Given the description of an element on the screen output the (x, y) to click on. 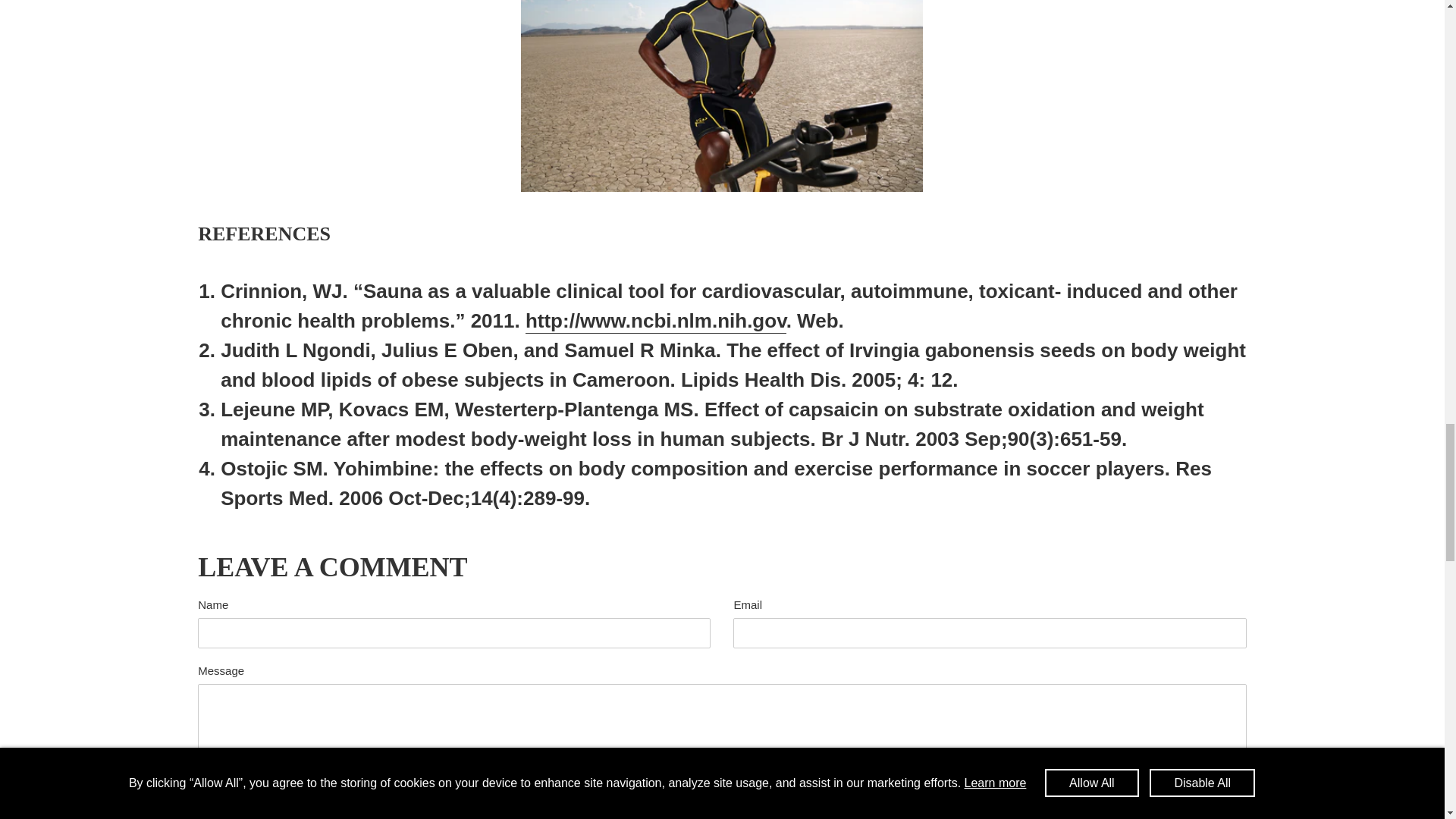
Post comment (256, 816)
